Given the description of an element on the screen output the (x, y) to click on. 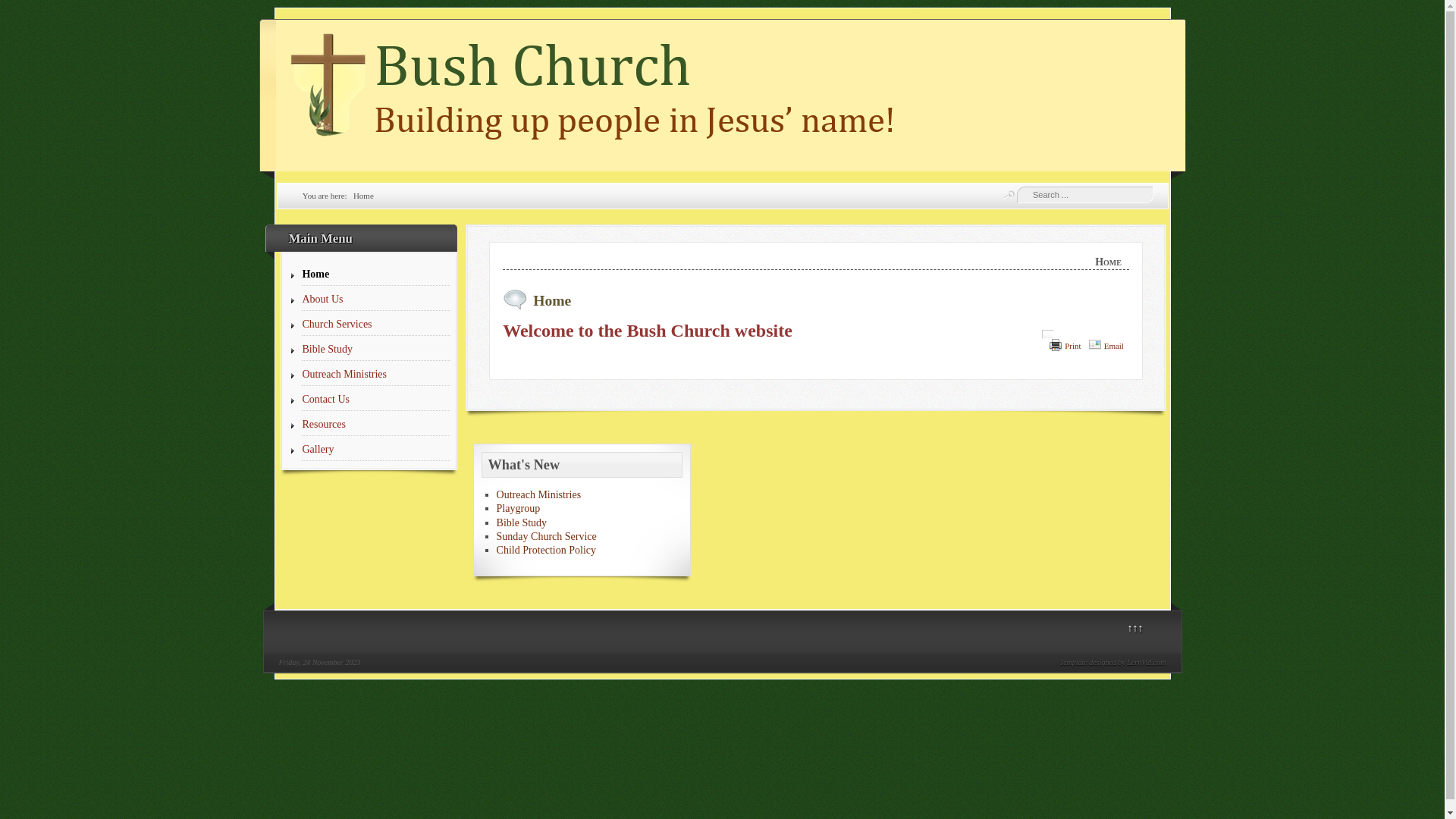
Outreach Ministries Element type: text (375, 374)
About Us Element type: text (375, 299)
Outreach Ministries Element type: text (538, 494)
Sunday Church Service Element type: text (546, 536)
Resources Element type: text (375, 425)
Bible Study Element type: text (521, 522)
Contact Us Element type: text (375, 400)
Template designed by LernVid.com Element type: text (1113, 662)
Home Element type: text (375, 274)
Gallery Element type: text (375, 450)
Email Element type: text (1113, 345)
Bible Study Element type: text (375, 349)
Church Services Element type: text (375, 324)
Child Protection Policy Element type: text (546, 549)
Playgroup Element type: text (518, 508)
Print Element type: text (1072, 345)
